Given the description of an element on the screen output the (x, y) to click on. 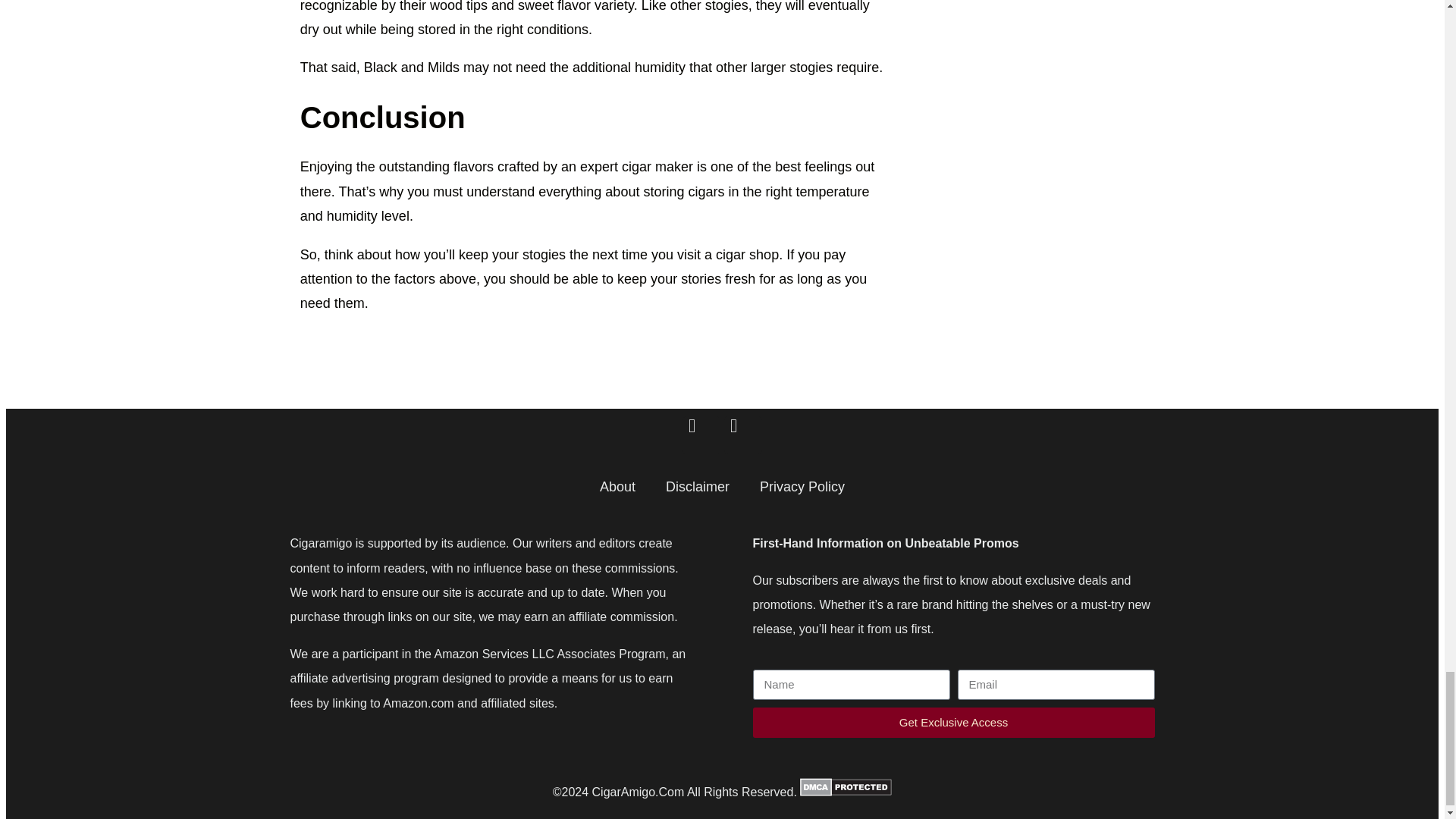
DMCA.com Protection Status (845, 791)
Get Exclusive Access (953, 722)
About (617, 486)
Privacy Policy (802, 486)
Disclaimer (697, 486)
